Given the description of an element on the screen output the (x, y) to click on. 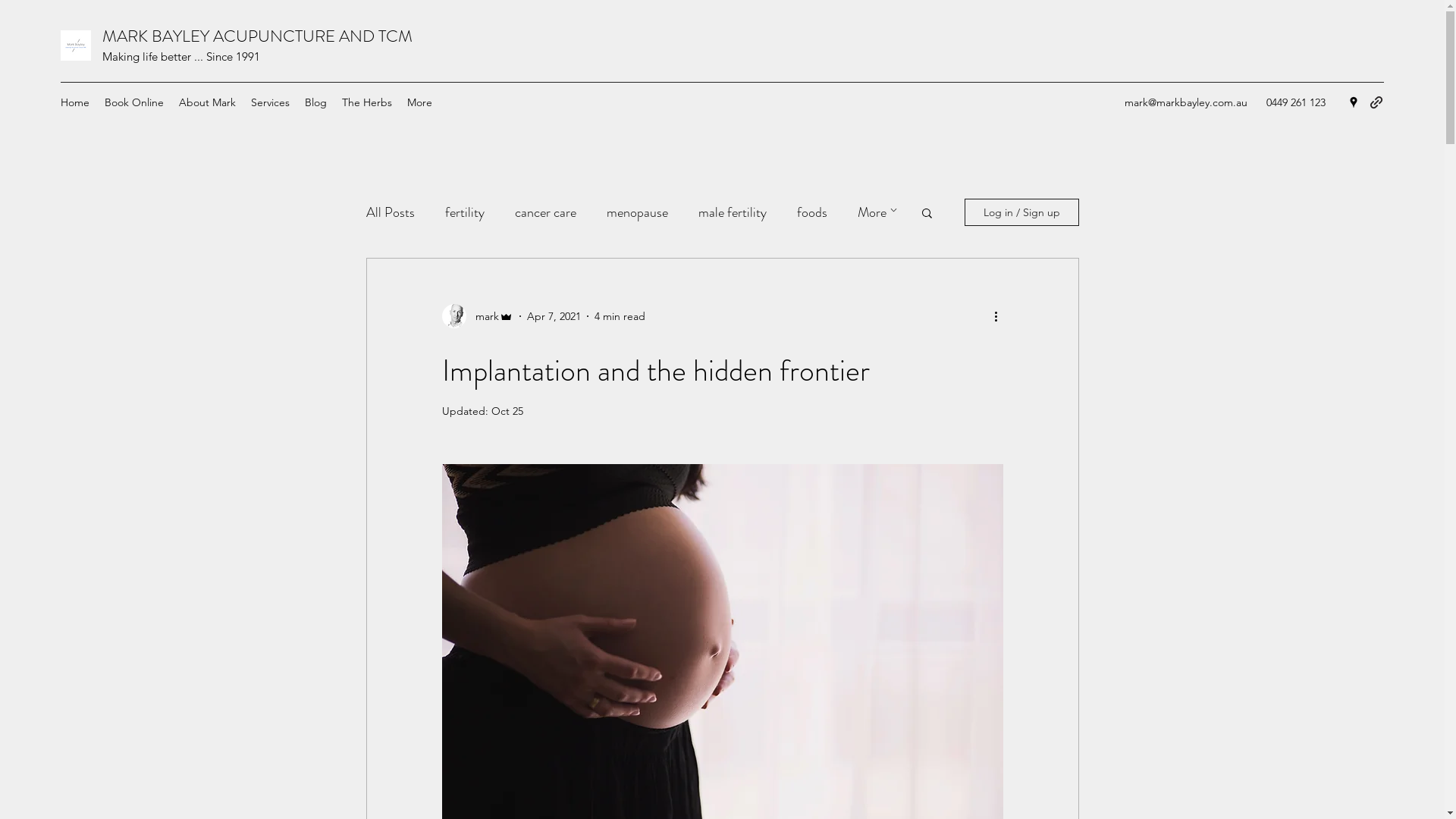
The Herbs Element type: text (366, 102)
Blog Element type: text (315, 102)
Services Element type: text (270, 102)
Log in / Sign up Element type: text (1021, 211)
fertility Element type: text (463, 212)
MARK BAYLEY ACUPUNCTURE AND TCM Element type: text (257, 35)
Home Element type: text (75, 102)
Book Online Element type: text (134, 102)
male fertility Element type: text (731, 212)
All Posts Element type: text (389, 212)
mark@markbayley.com.au Element type: text (1185, 102)
About Mark Element type: text (207, 102)
foods Element type: text (811, 212)
menopause Element type: text (637, 212)
cancer care Element type: text (544, 212)
